Given the description of an element on the screen output the (x, y) to click on. 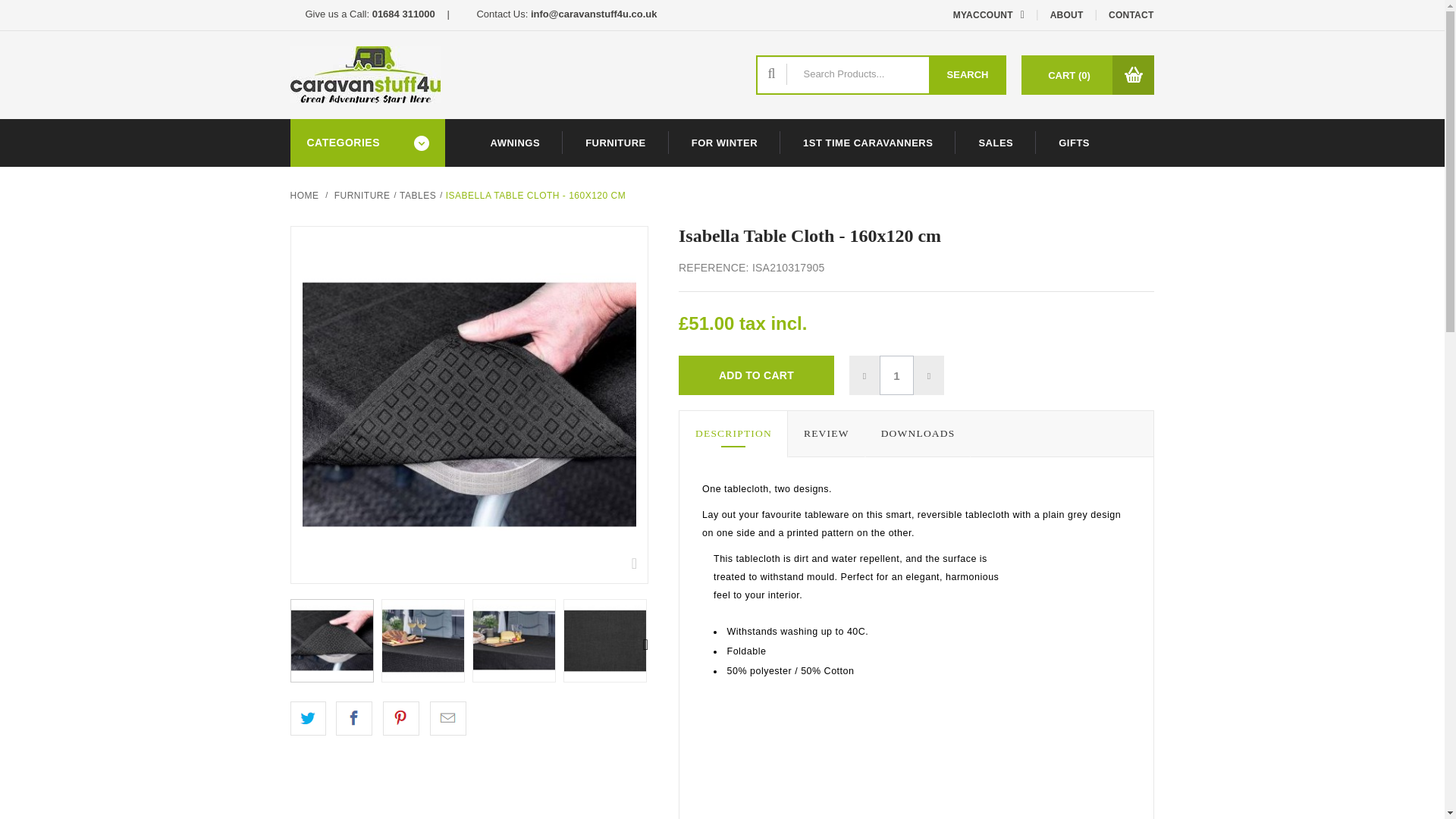
Isabella Table Cloth - 160x120 cm (331, 640)
Isabella Table Cloth - 160x120 cm (422, 640)
HOME (303, 195)
AWNINGS (514, 142)
MYACCOUNT (978, 14)
Tables (416, 195)
SALES (995, 142)
ABOUT (1066, 14)
Isabella Table Cloth - 160x120 cm (604, 640)
1ST TIME CARAVANNERS (867, 142)
SEARCH (967, 75)
CONTACT (1131, 14)
Isabella Table Cloth - 160x120 cm (513, 640)
Isabella Table Cloth - 160x120 cm (422, 640)
Furniture (362, 195)
